Given the description of an element on the screen output the (x, y) to click on. 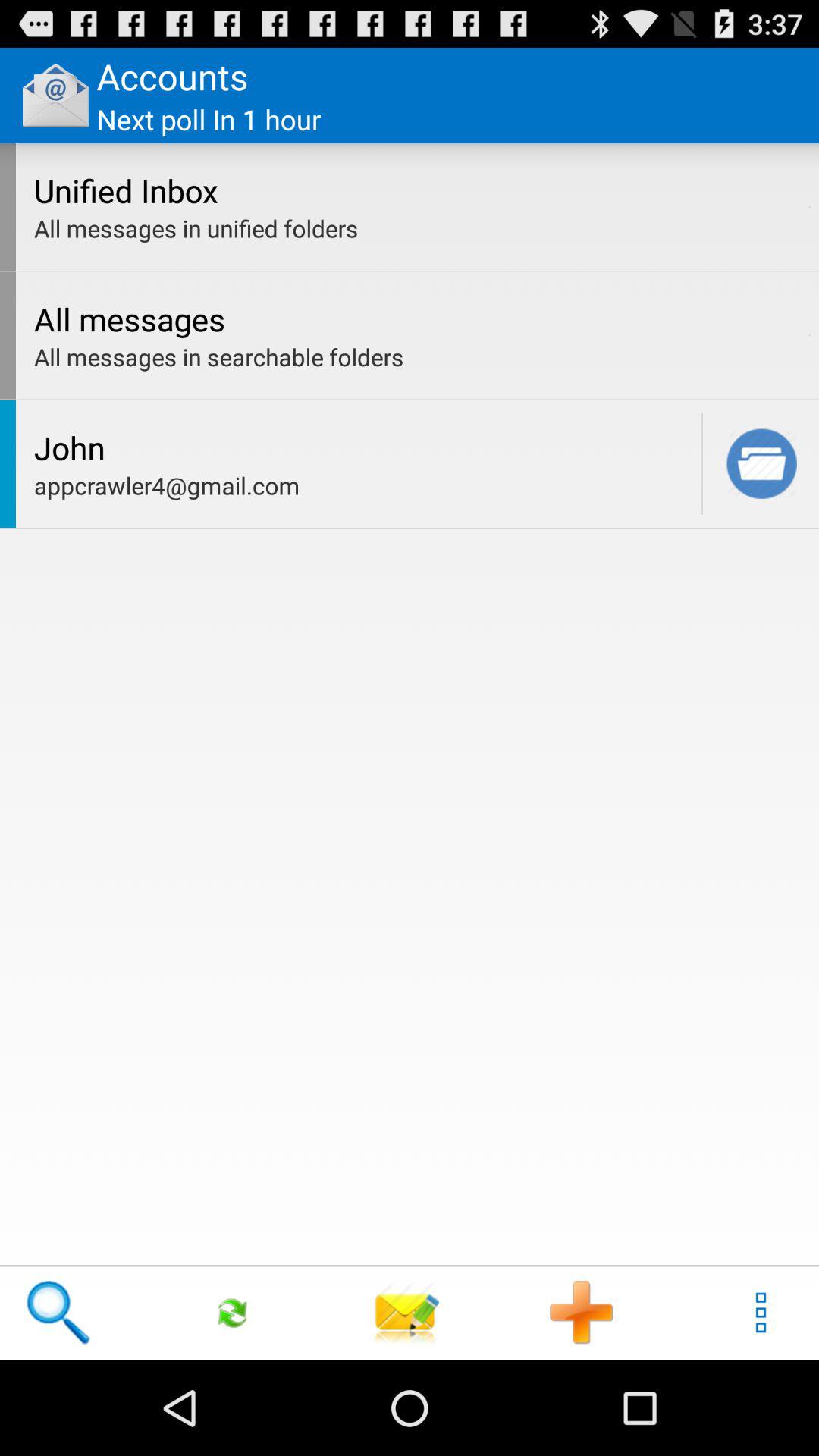
jump until the unified inbox item (417, 190)
